Given the description of an element on the screen output the (x, y) to click on. 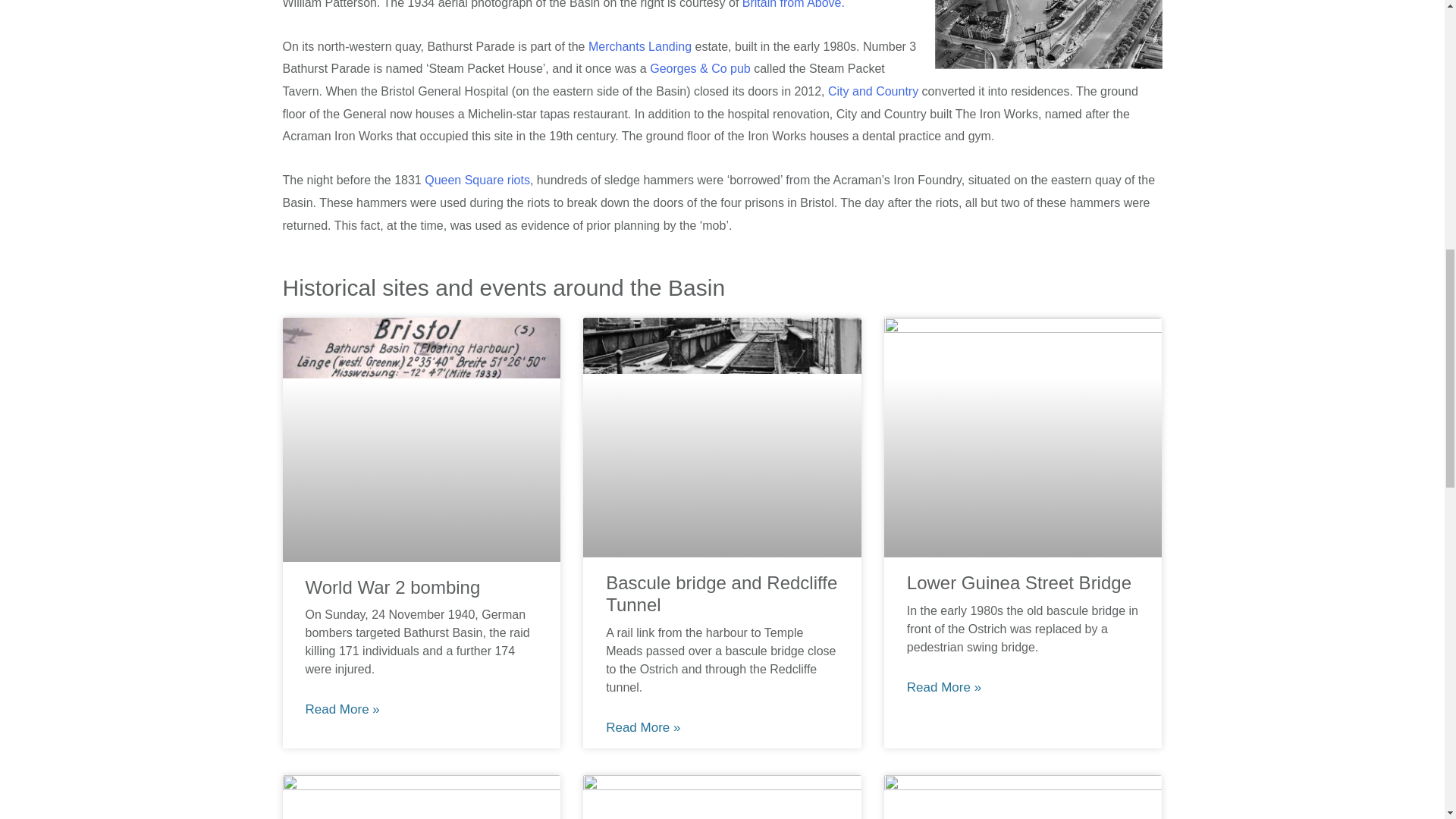
Britain from Above. (793, 4)
Queen Square riots (477, 179)
City and Country (873, 91)
Merchants Landing (639, 46)
